Given the description of an element on the screen output the (x, y) to click on. 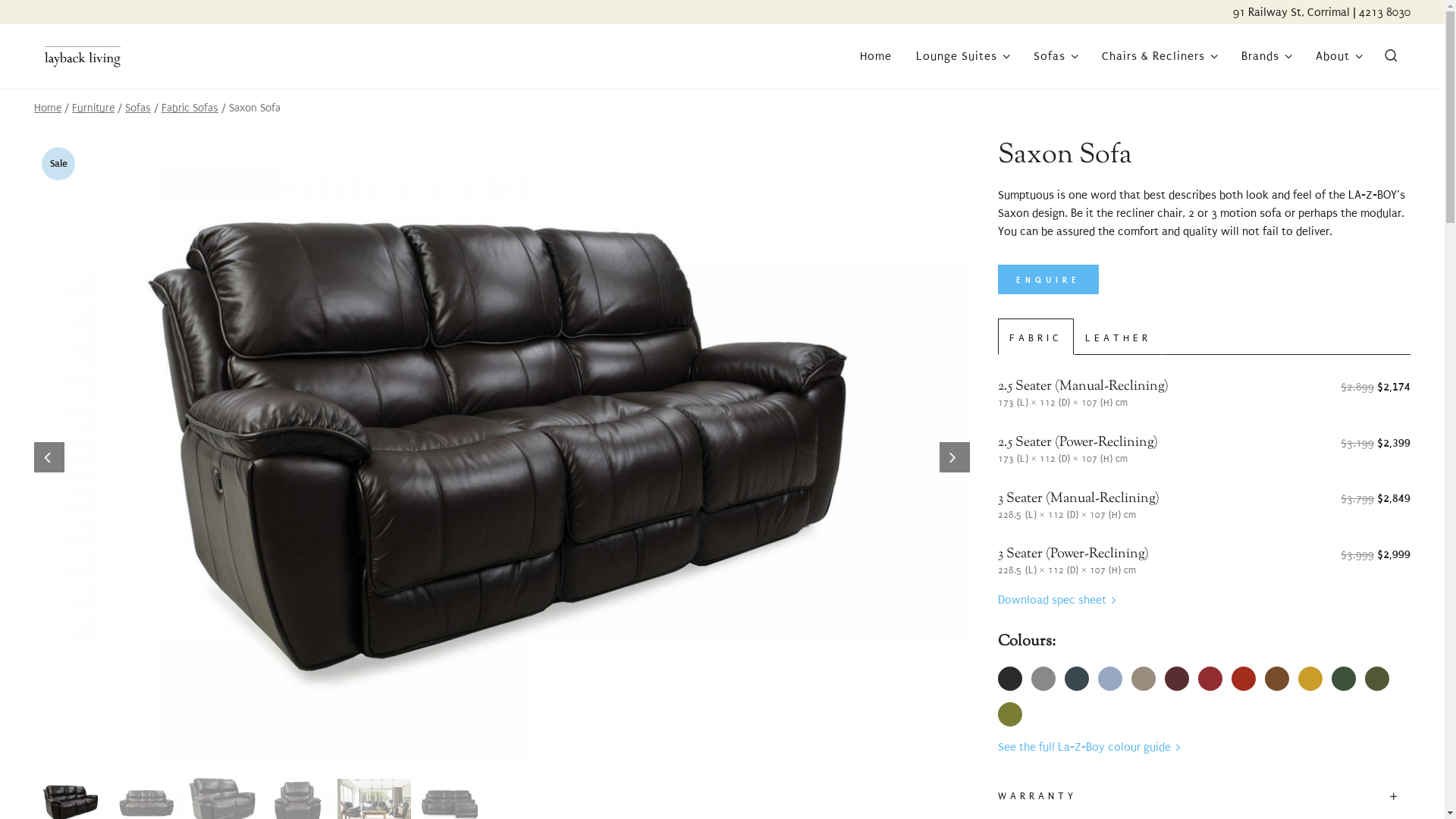
Chairs & Recliners Element type: text (1159, 56)
Sofas Element type: text (137, 107)
Fabric Sofas Element type: text (189, 107)
Lounge Suites Element type: text (962, 56)
FABRIC Element type: text (1035, 336)
Brands Element type: text (1266, 56)
Furniture Element type: text (93, 107)
Saxon_3s_le_1 Element type: hover (501, 451)
Download spec sheet Element type: text (1056, 599)
Home Element type: text (875, 56)
About Element type: text (1338, 56)
See the full La-Z-Boy colour guide Element type: text (1088, 746)
ENQUIRE Element type: text (1047, 279)
Home Element type: text (47, 107)
Sofas Element type: text (1055, 56)
Search Element type: text (1351, 57)
LEATHER Element type: text (1117, 336)
